Given the description of an element on the screen output the (x, y) to click on. 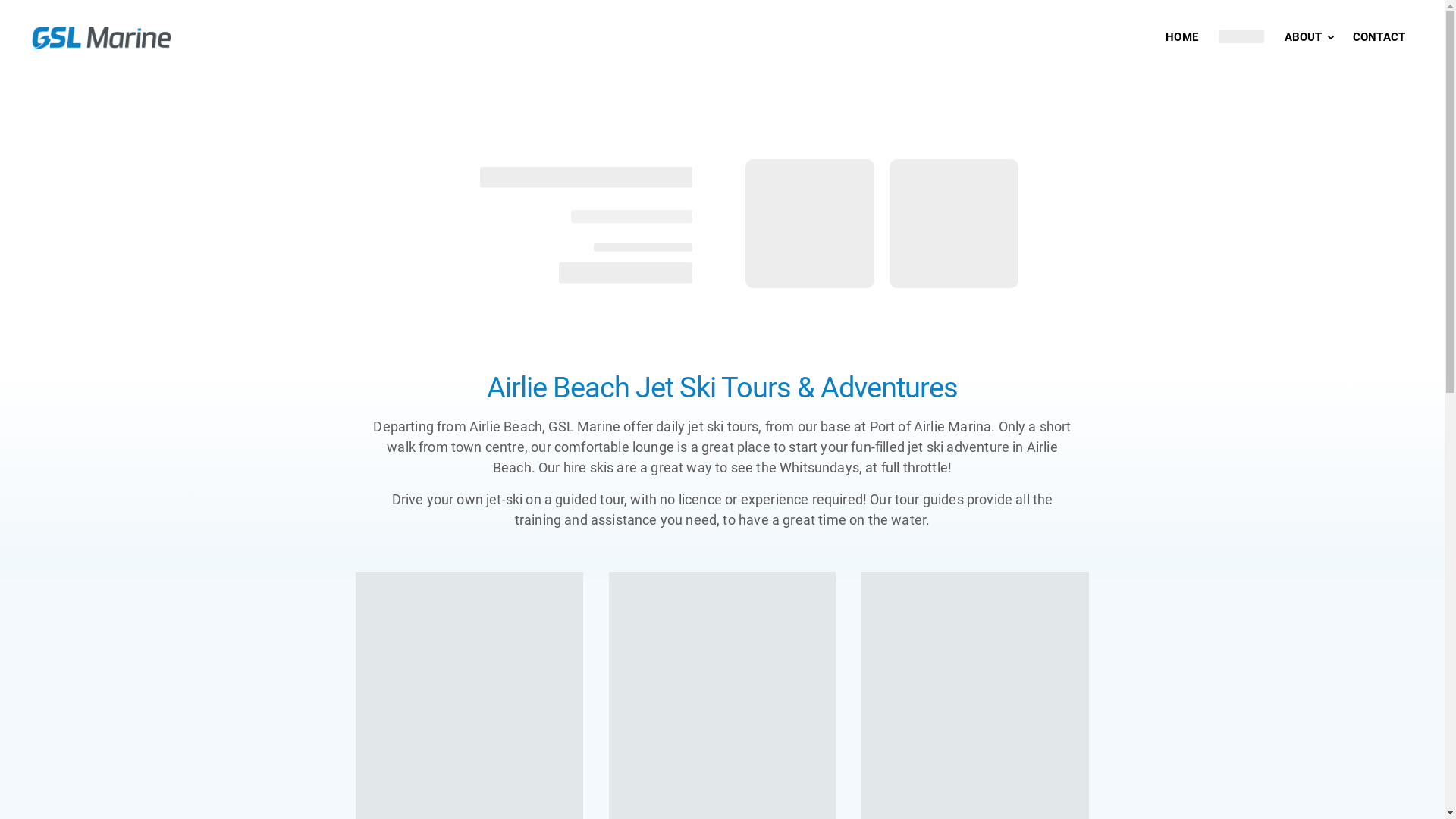
HOME Element type: text (1181, 37)
CONTACT Element type: text (1378, 37)
ABOUT Element type: text (1309, 37)
